Given the description of an element on the screen output the (x, y) to click on. 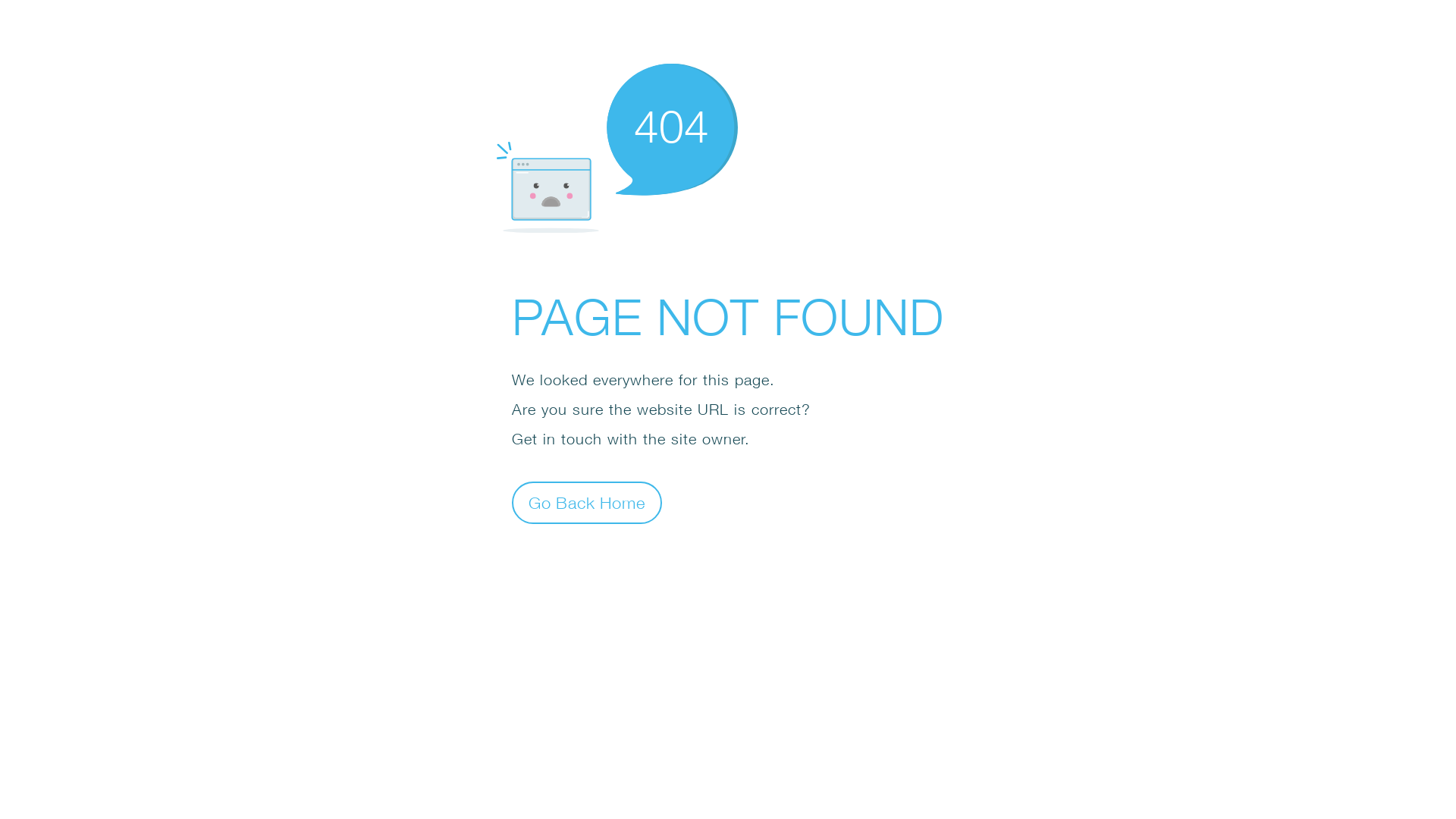
Go Back Home Element type: text (586, 502)
